Given the description of an element on the screen output the (x, y) to click on. 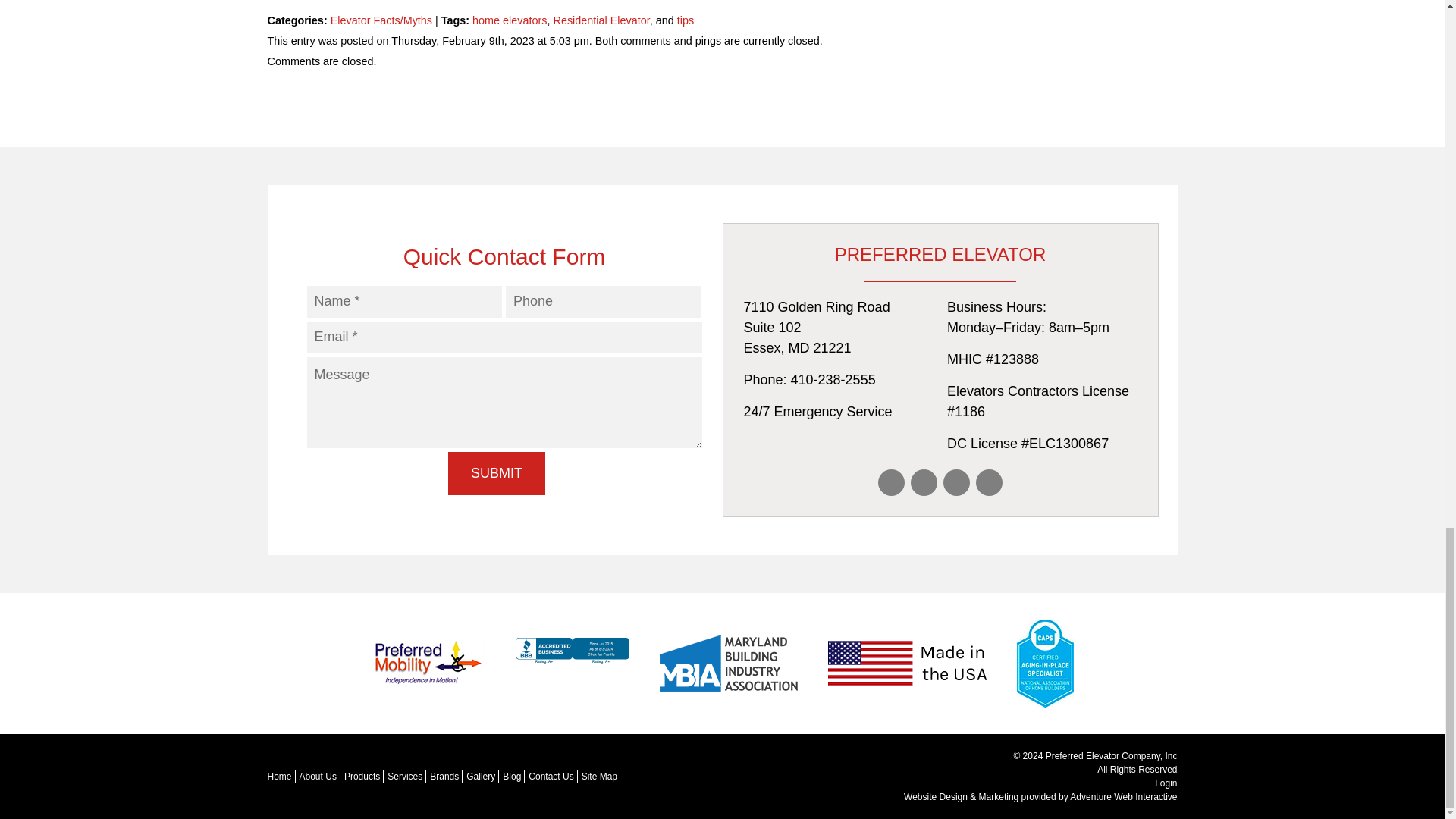
home elevators (509, 20)
MBIA - Maryland Building Industry Association (728, 662)
American Flag - Made in the USA (907, 662)
Submit (496, 474)
